Given the description of an element on the screen output the (x, y) to click on. 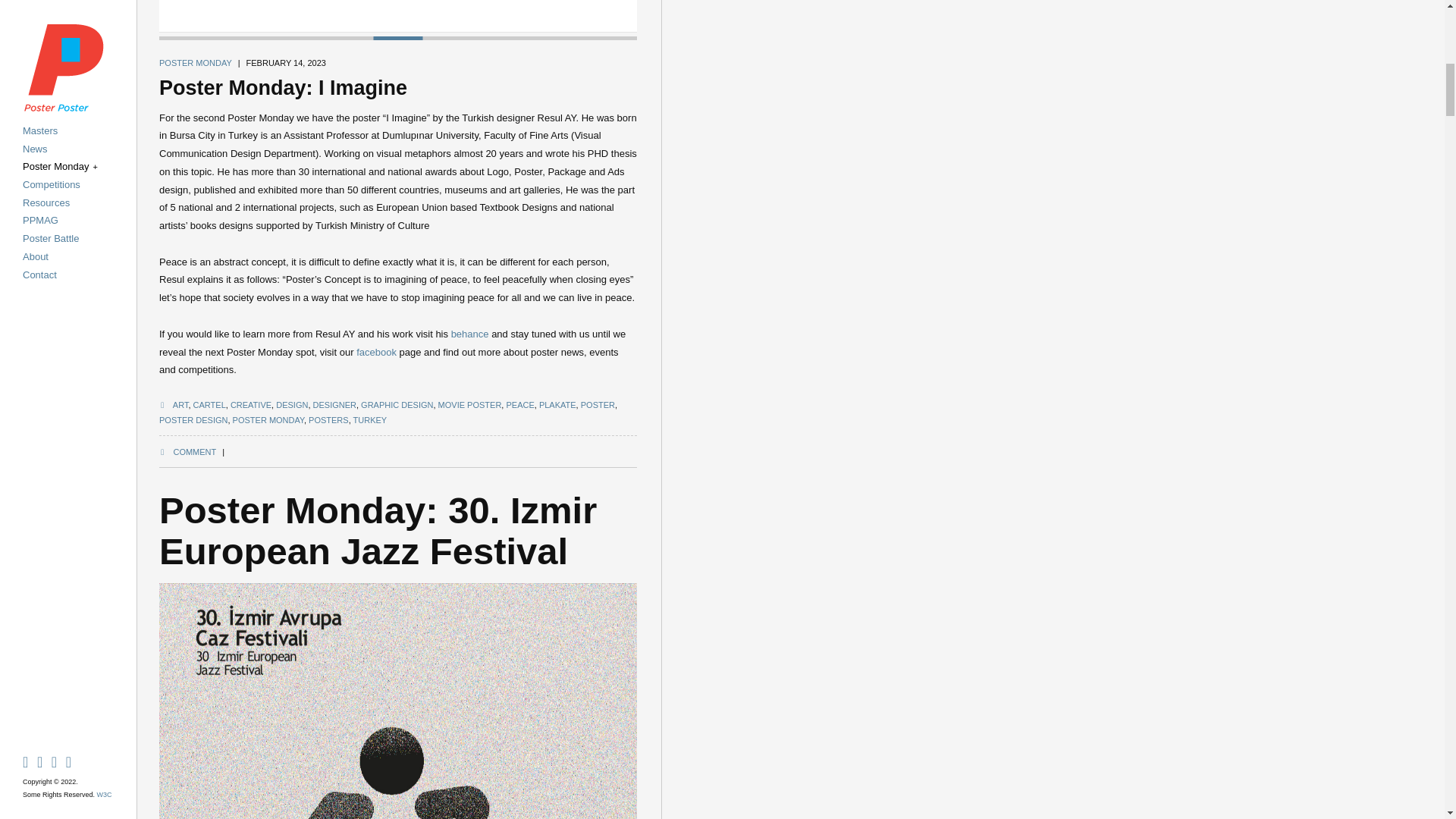
GRAPHIC DESIGN (396, 404)
POSTER MONDAY (194, 62)
behance (470, 333)
DESIGN (291, 404)
ART (181, 404)
DESIGNER (334, 404)
facebook (376, 351)
CARTEL (209, 404)
CREATIVE (250, 404)
